Given the description of an element on the screen output the (x, y) to click on. 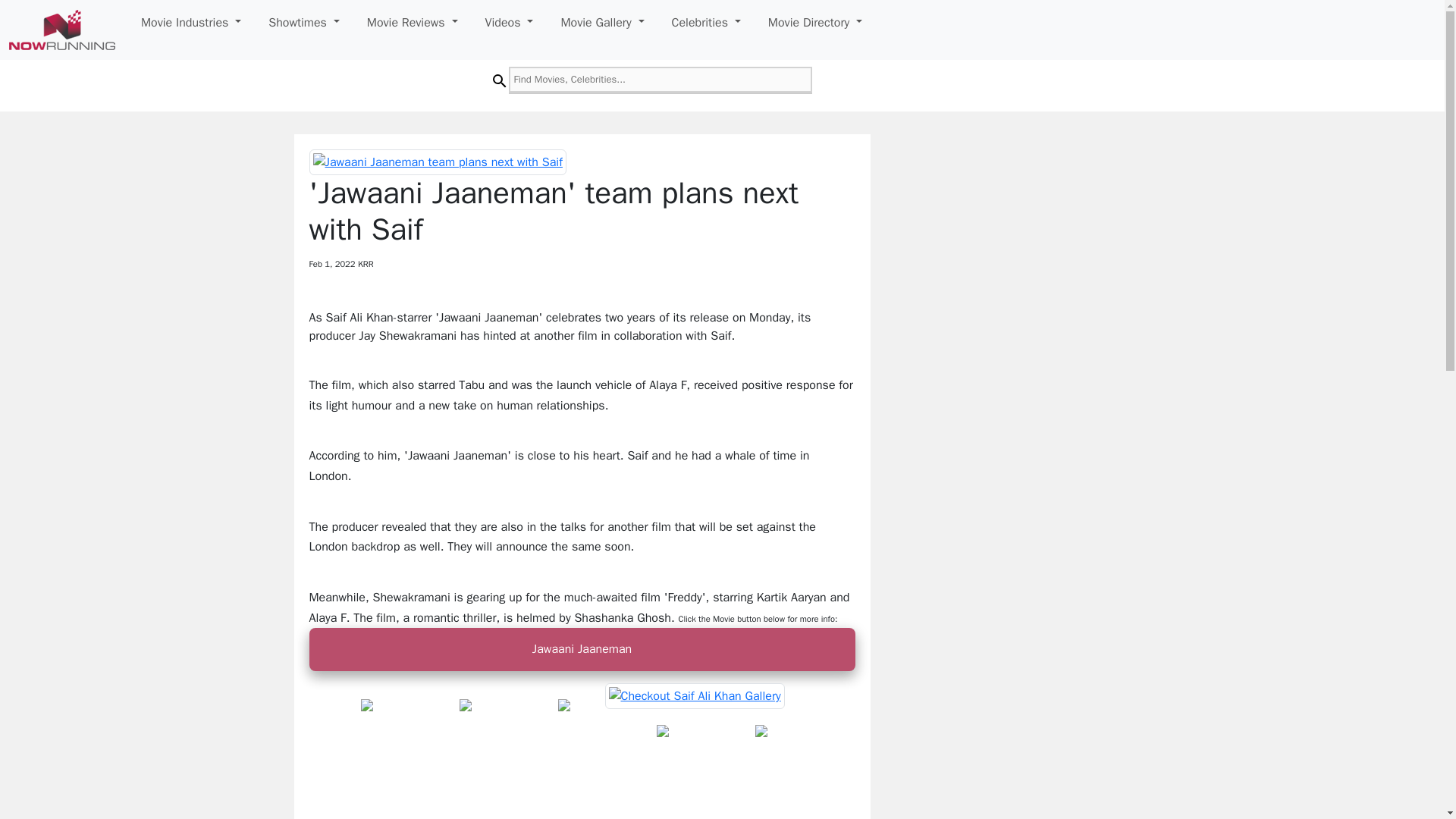
Movie Gallery (601, 22)
Movie Industries (191, 22)
Movie Reviews (412, 22)
Videos (509, 22)
Showtimes (304, 22)
